Given the description of an element on the screen output the (x, y) to click on. 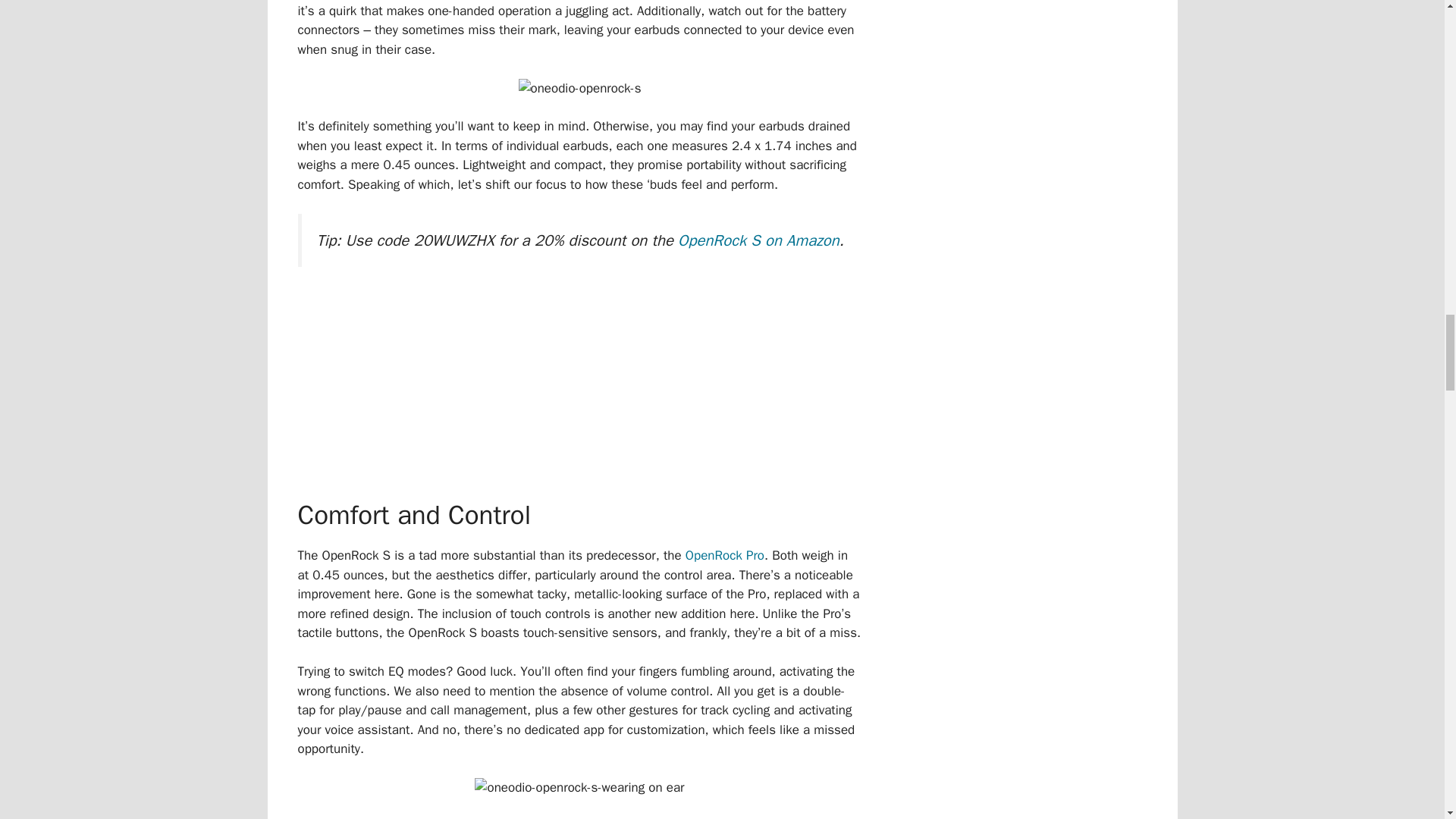
OpenRock Pro (724, 555)
OpenRock S on Amazon (759, 240)
